Given the description of an element on the screen output the (x, y) to click on. 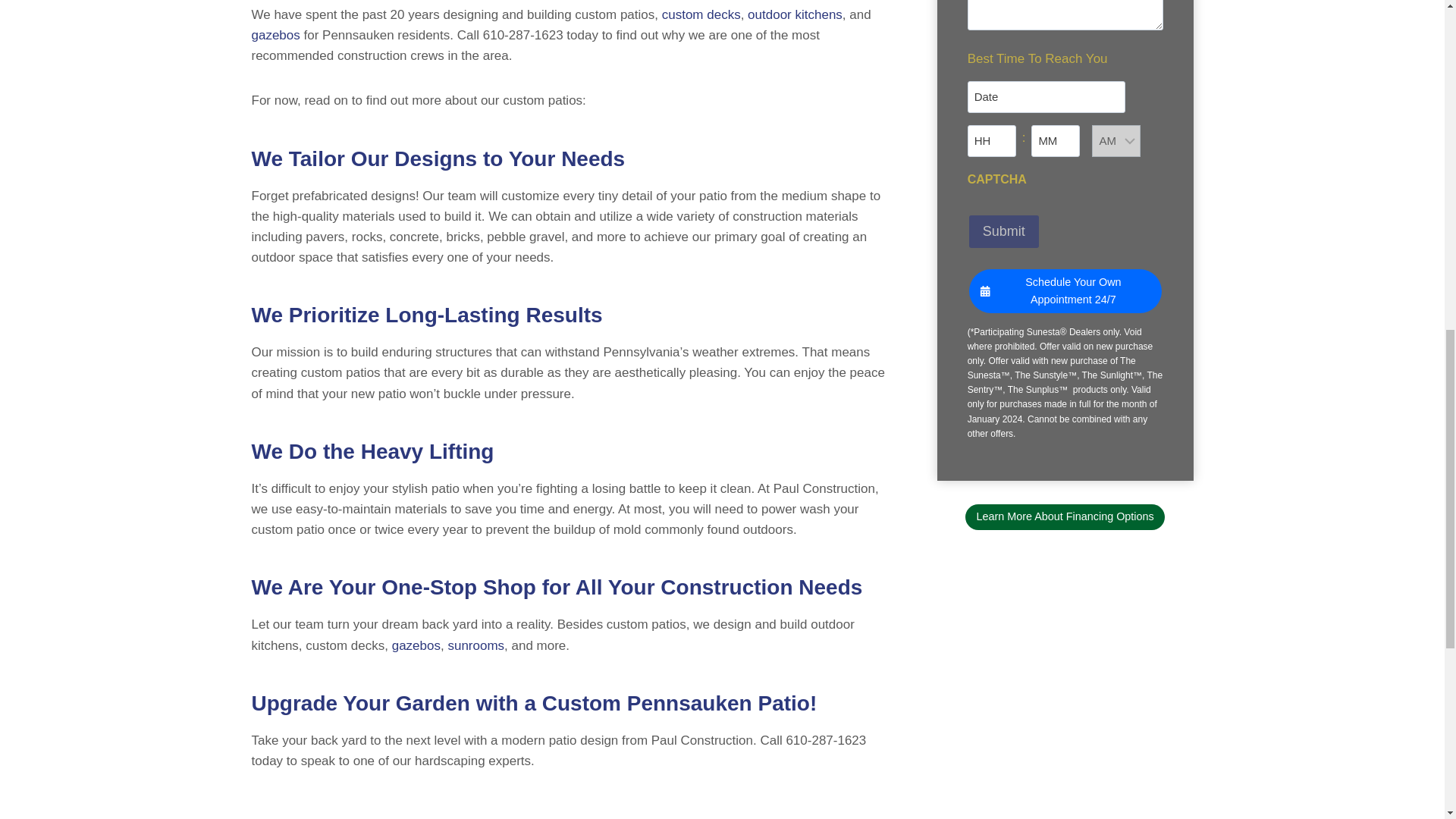
Submit (1004, 231)
